Given the description of an element on the screen output the (x, y) to click on. 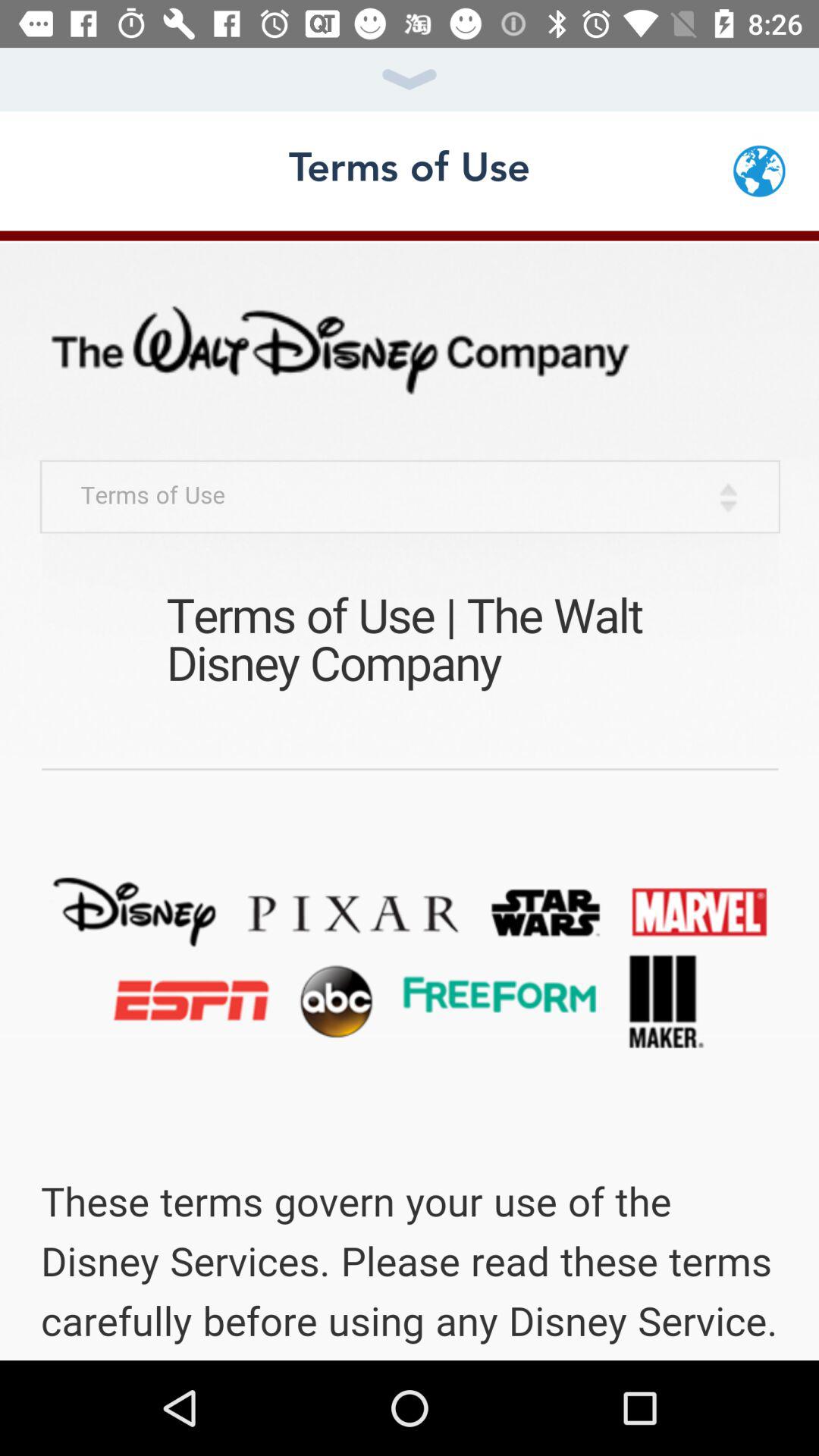
view terms of use (409, 795)
